Given the description of an element on the screen output the (x, y) to click on. 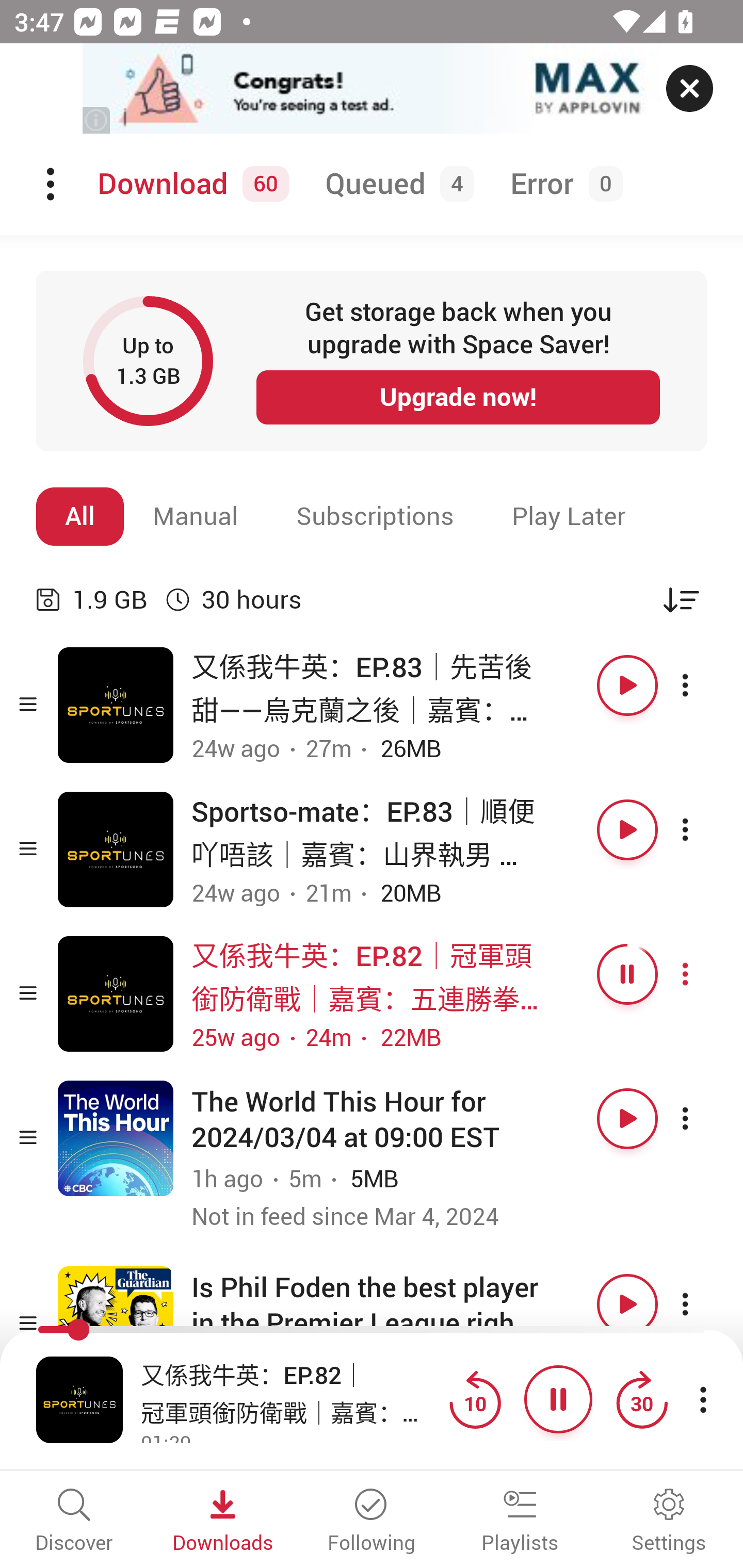
app-monetization (371, 88)
(i) (96, 119)
Menu (52, 184)
 Download 60 (189, 184)
 Queued 4 (396, 184)
 Error 0 (562, 184)
All (80, 516)
Manual (195, 516)
Subscriptions (374, 516)
Play Later (568, 516)
Change sort order (681, 599)
Play button (627, 685)
More options (703, 685)
Open series Sportunes HK (115, 705)
Play button (627, 830)
More options (703, 830)
Open series Sportunes HK (115, 849)
Pause button (627, 974)
More options (703, 974)
Open series Sportunes HK (115, 994)
Play button (627, 1118)
More options (703, 1118)
Open series The World This Hour (115, 1138)
Play button (627, 1304)
More options (703, 1304)
Open series Football Weekly (115, 1323)
Open fullscreen player (79, 1399)
又係我牛英：EP.82｜冠軍頭銜防衛戰｜嘉賓：五連勝拳后 楊曉茹 (290, 1392)
More player controls (703, 1399)
Pause button (558, 1398)
Jump back (475, 1399)
Jump forward (641, 1399)
Discover (74, 1521)
Downloads (222, 1521)
Following (371, 1521)
Playlists (519, 1521)
Settings (668, 1521)
